Given the description of an element on the screen output the (x, y) to click on. 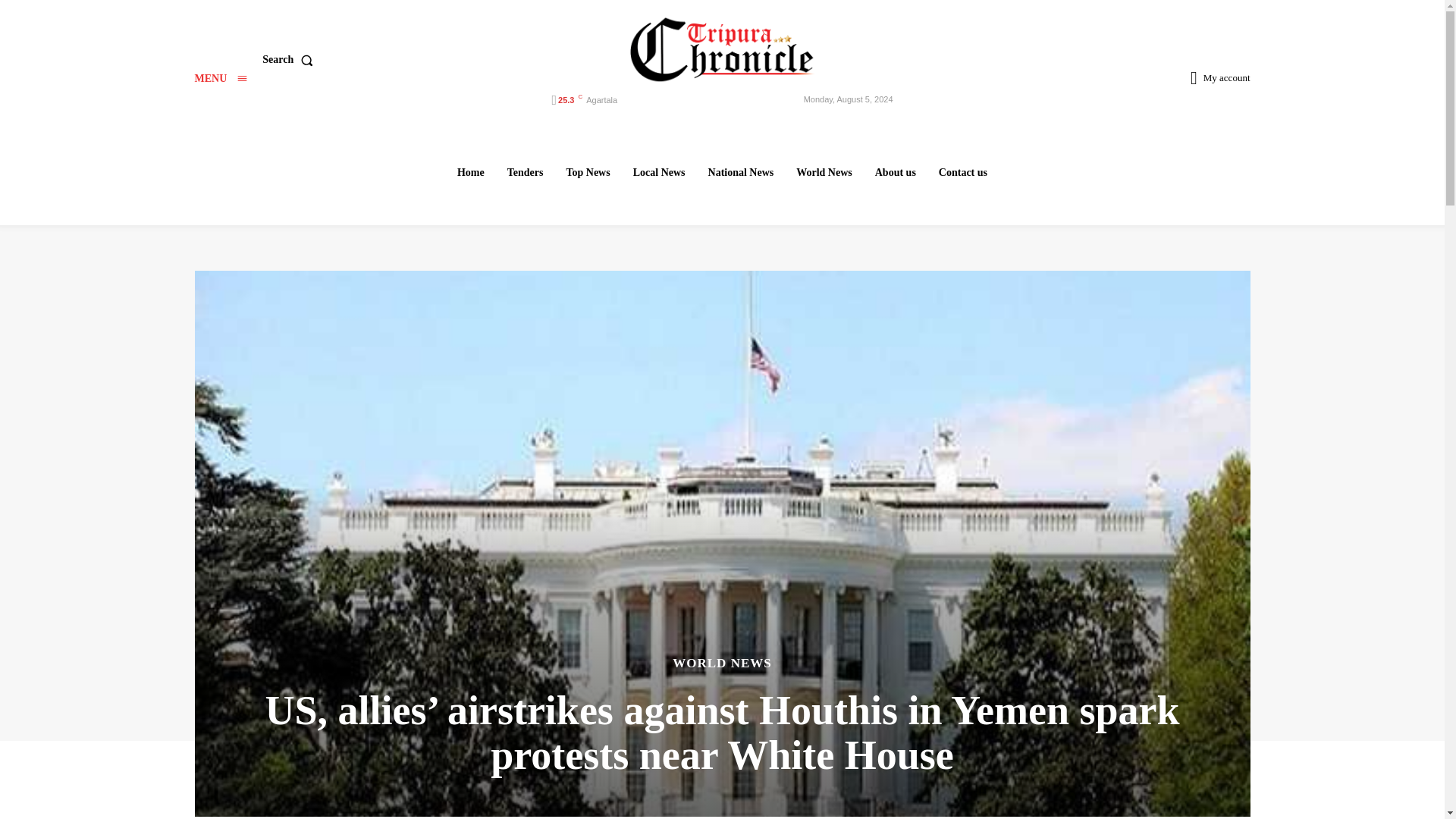
MENU (220, 78)
Tenders (525, 172)
Home (470, 172)
Search (290, 60)
World News (824, 172)
Top News (587, 172)
National News (740, 172)
Local News (659, 172)
Menu (220, 78)
